Given the description of an element on the screen output the (x, y) to click on. 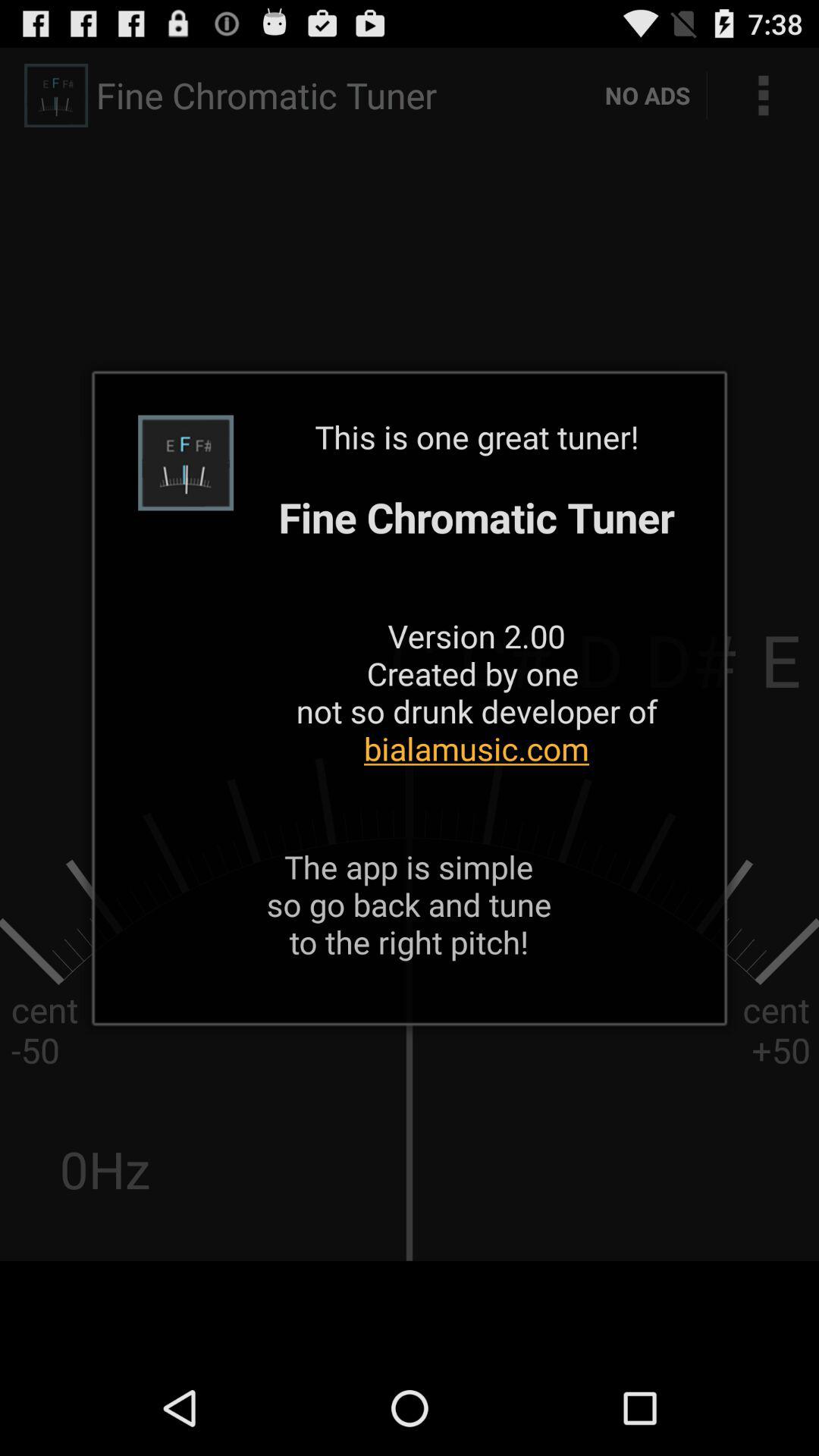
press the this is one item (476, 611)
